Given the description of an element on the screen output the (x, y) to click on. 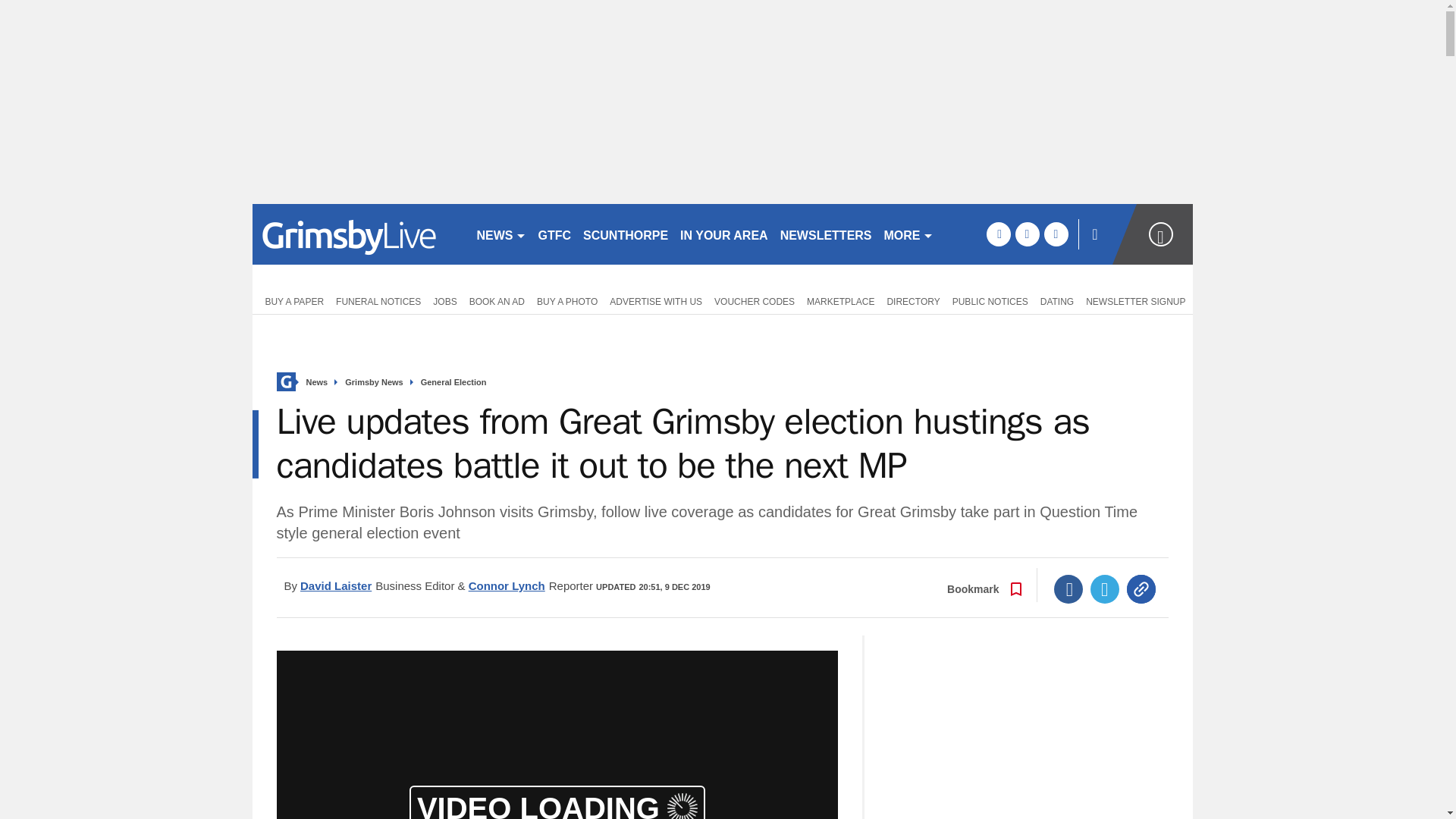
IN YOUR AREA (724, 233)
grimsbytelegraph (357, 233)
JOBS (444, 300)
SCUNTHORPE (625, 233)
NEWSLETTERS (825, 233)
BOOK AN AD (497, 300)
BUY A PHOTO (567, 300)
FUNERAL NOTICES (378, 300)
instagram (1055, 233)
twitter (1026, 233)
